Given the description of an element on the screen output the (x, y) to click on. 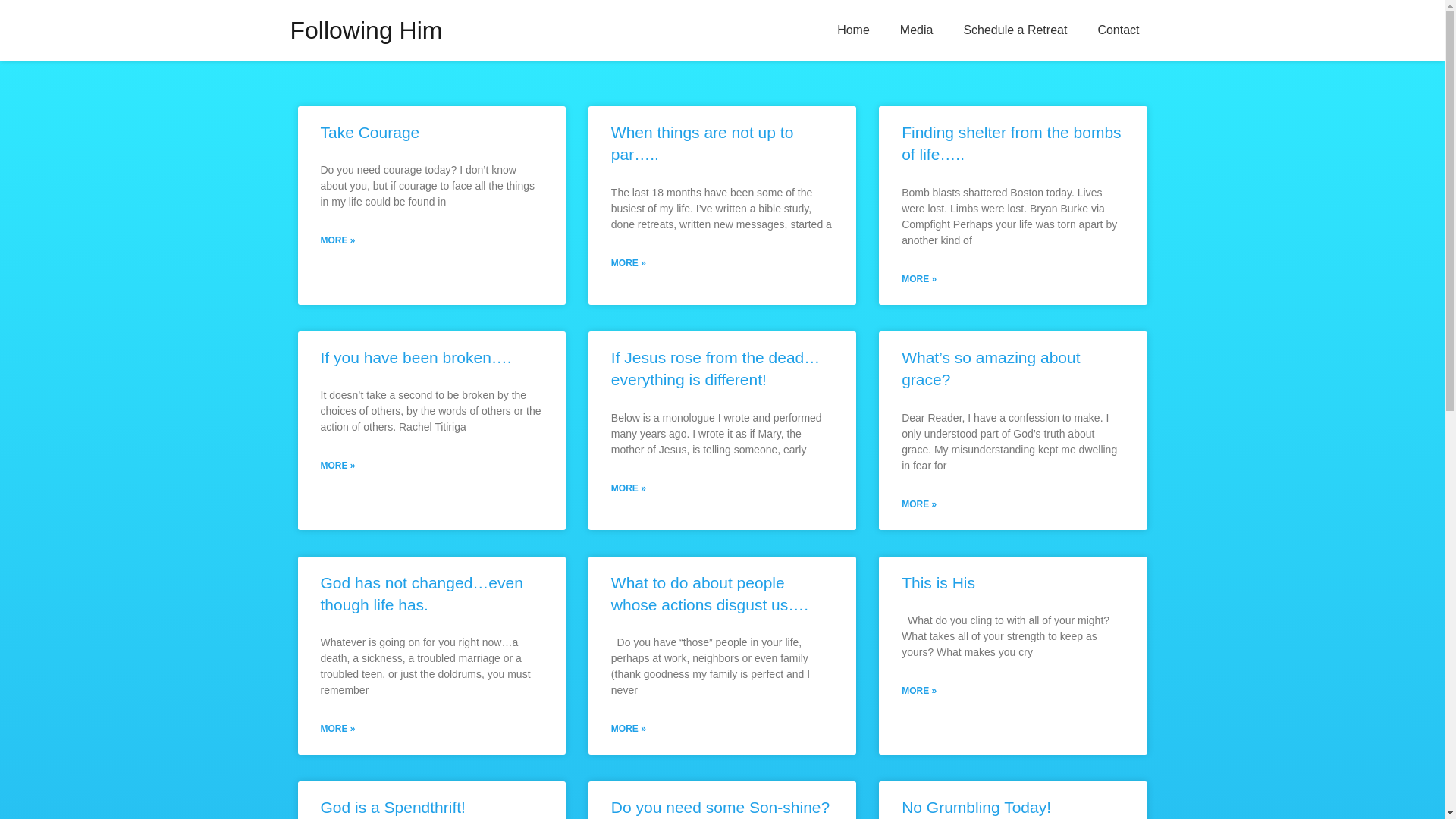
This is His (938, 582)
Home (853, 30)
Contact (1117, 30)
Following Him (365, 30)
Do you need some Son-shine? (720, 806)
God is a Spendthrift! (392, 806)
Take Courage (369, 131)
Schedule a Retreat (1014, 30)
Media (917, 30)
No Grumbling Today! (976, 806)
